Given the description of an element on the screen output the (x, y) to click on. 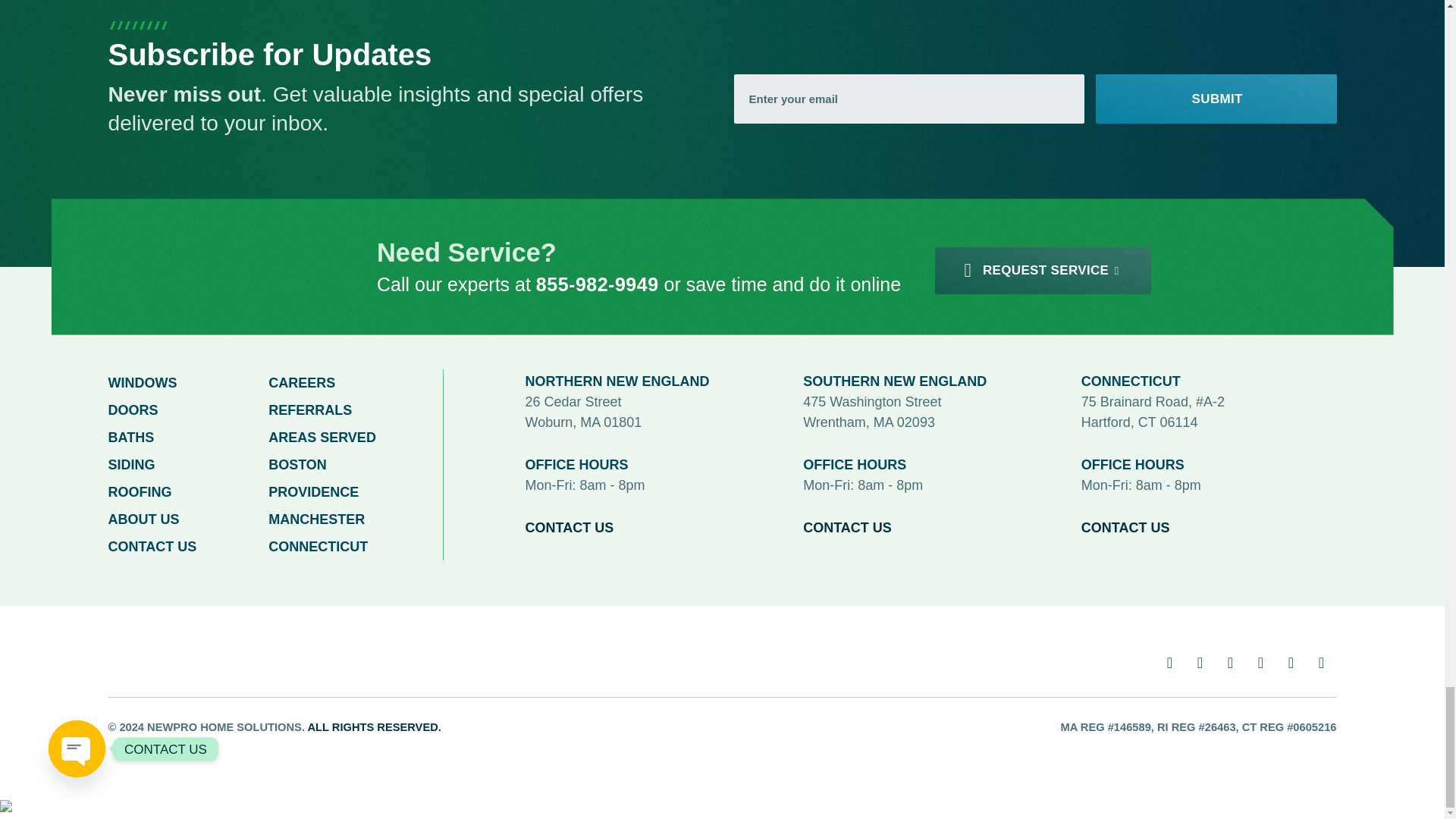
Submit (1215, 98)
NEWPRO Home Solutions (167, 656)
